Given the description of an element on the screen output the (x, y) to click on. 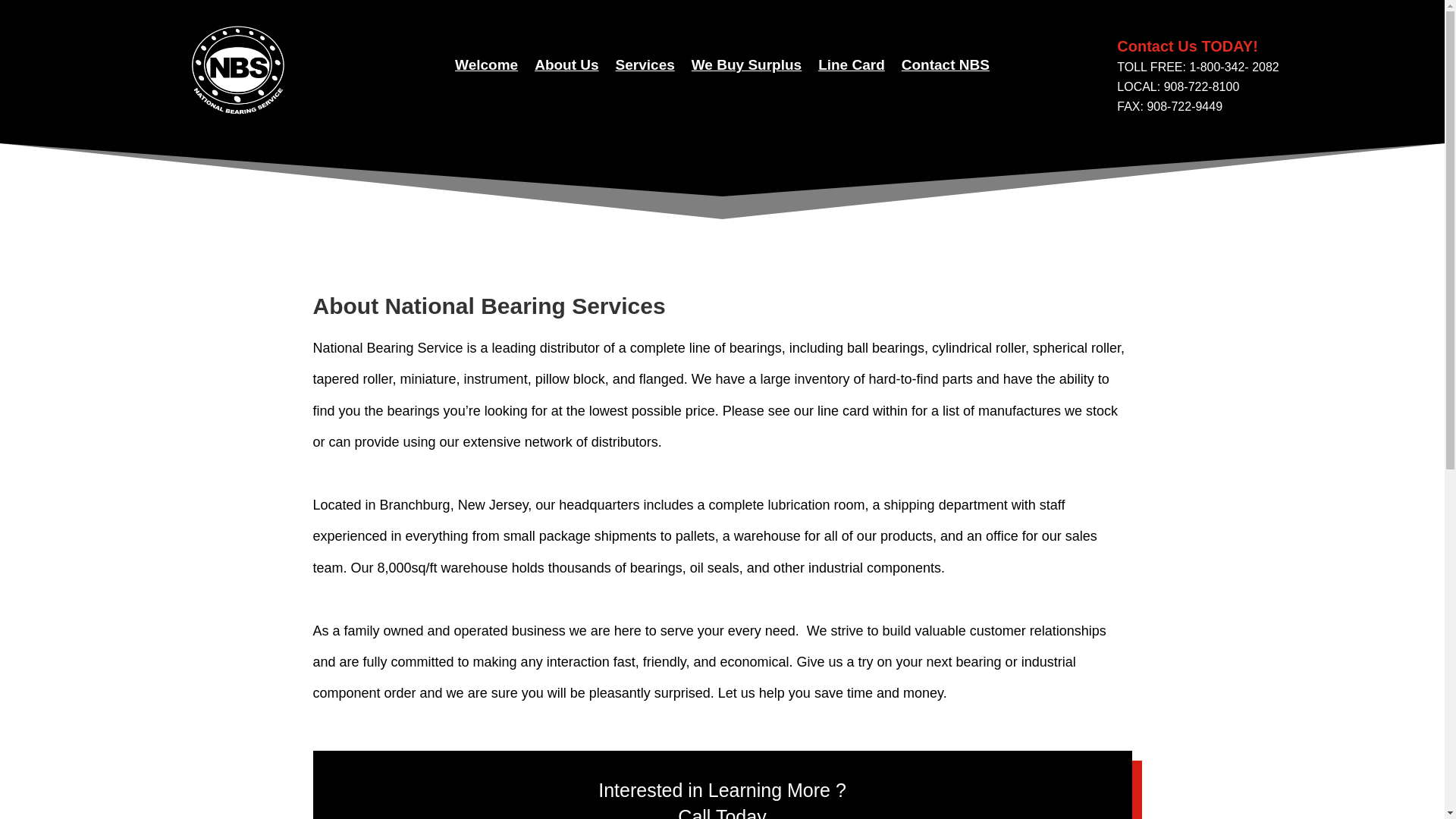
We Buy Surplus (746, 68)
Contact NBS (945, 68)
